Given the description of an element on the screen output the (x, y) to click on. 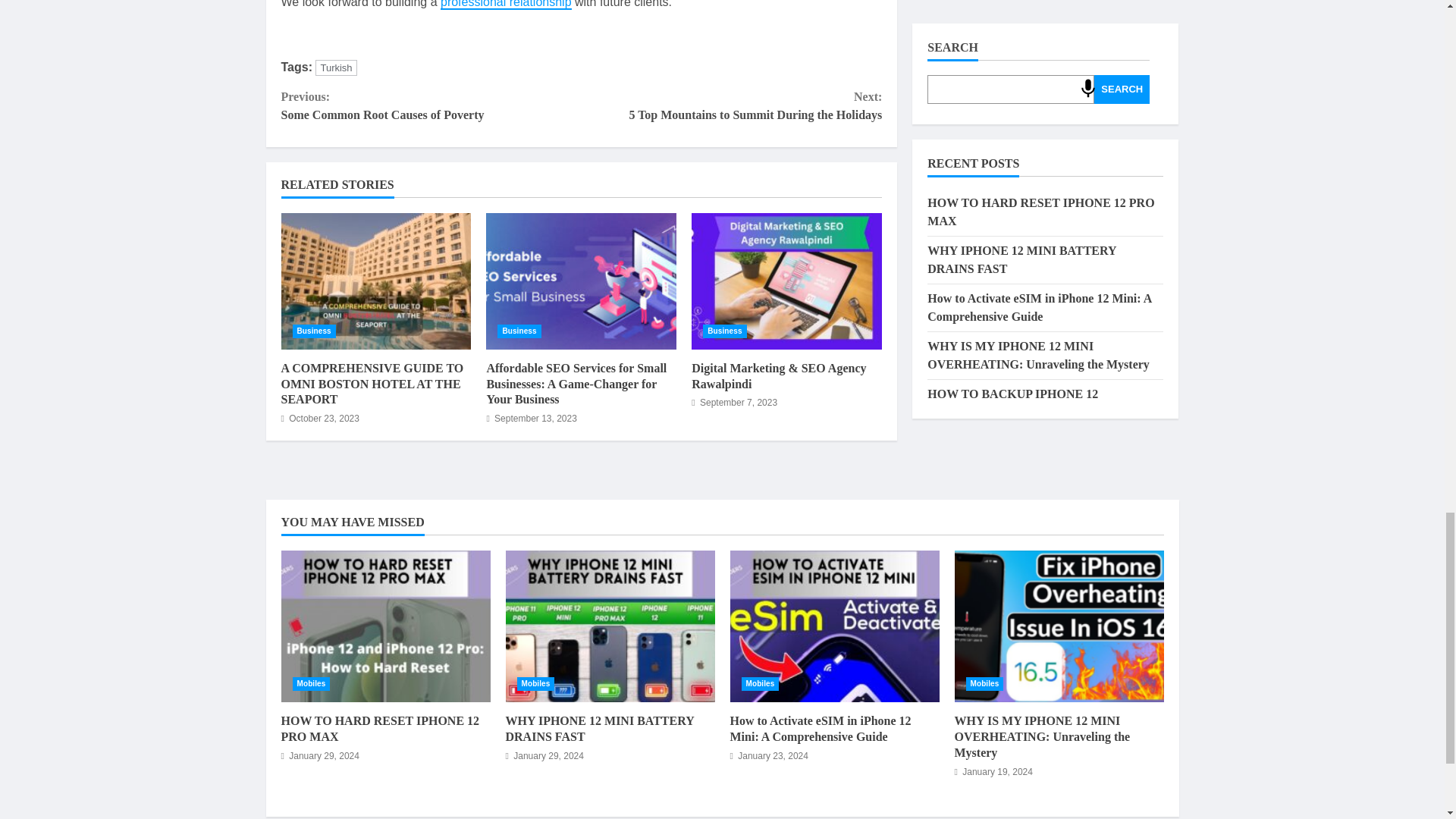
Turkish (335, 67)
A COMPREHENSIVE GUIDE TO OMNI BOSTON HOTEL AT THE SEAPORT (372, 383)
Business (430, 105)
A COMPREHENSIVE GUIDE TO OMNI BOSTON HOTEL AT THE SEAPORT (724, 331)
Business (375, 280)
Business (314, 331)
professional relationship (731, 105)
